Given the description of an element on the screen output the (x, y) to click on. 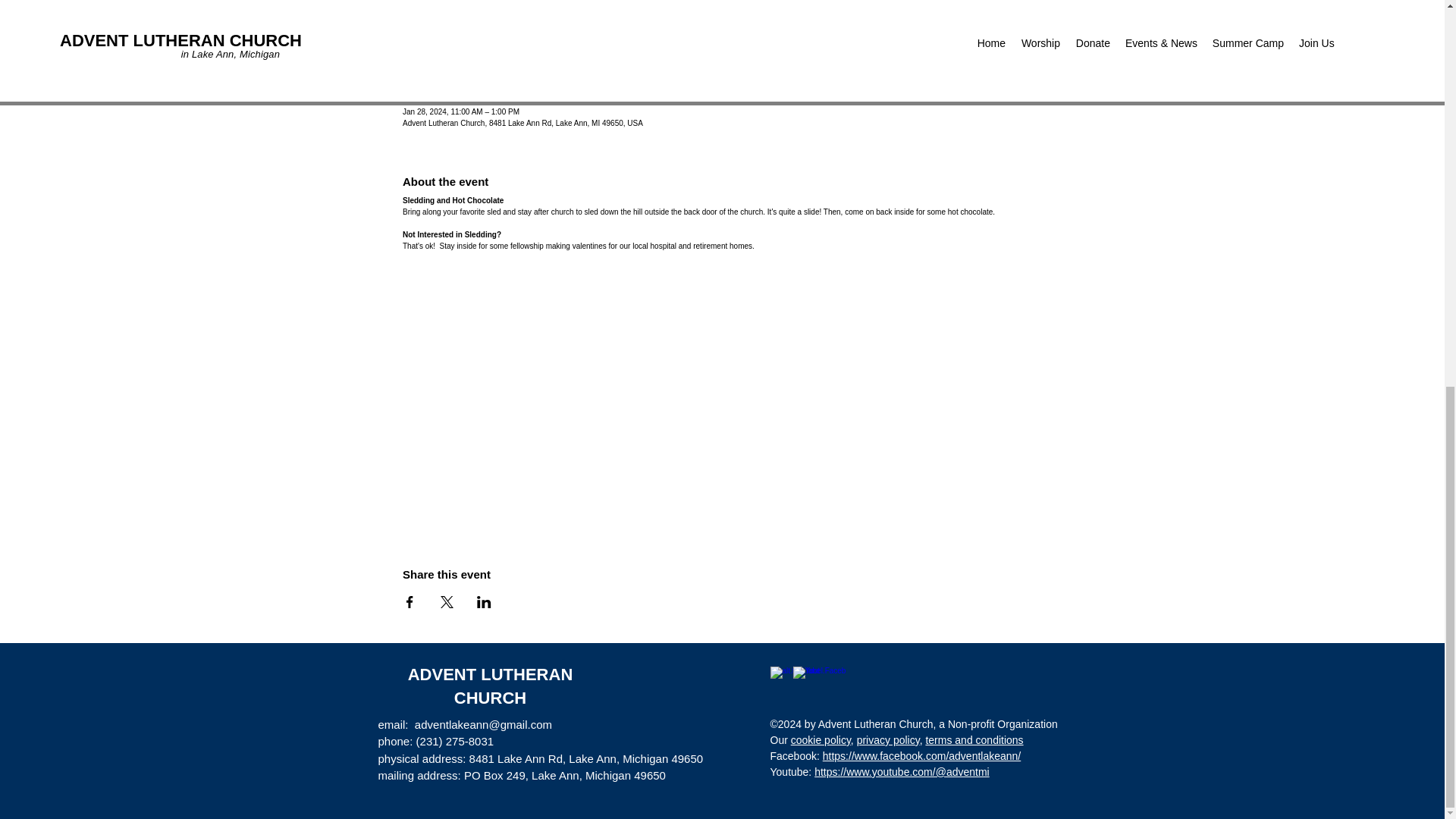
cookie policy (820, 739)
privacy policy (888, 739)
terms and conditions (973, 739)
